Given the description of an element on the screen output the (x, y) to click on. 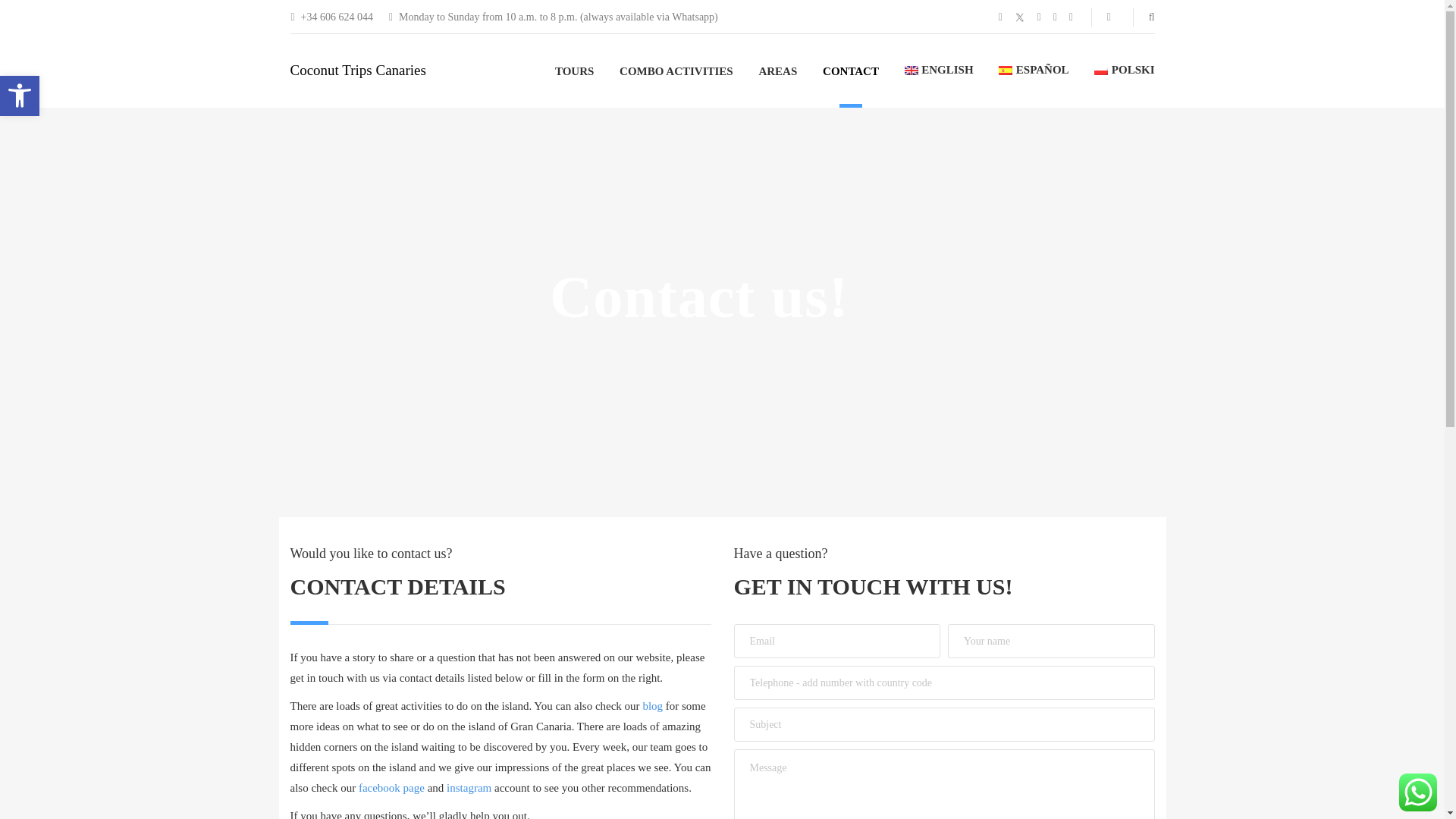
Accessibility Tools (19, 95)
English (939, 70)
Accessibility Tools (19, 96)
